Given the description of an element on the screen output the (x, y) to click on. 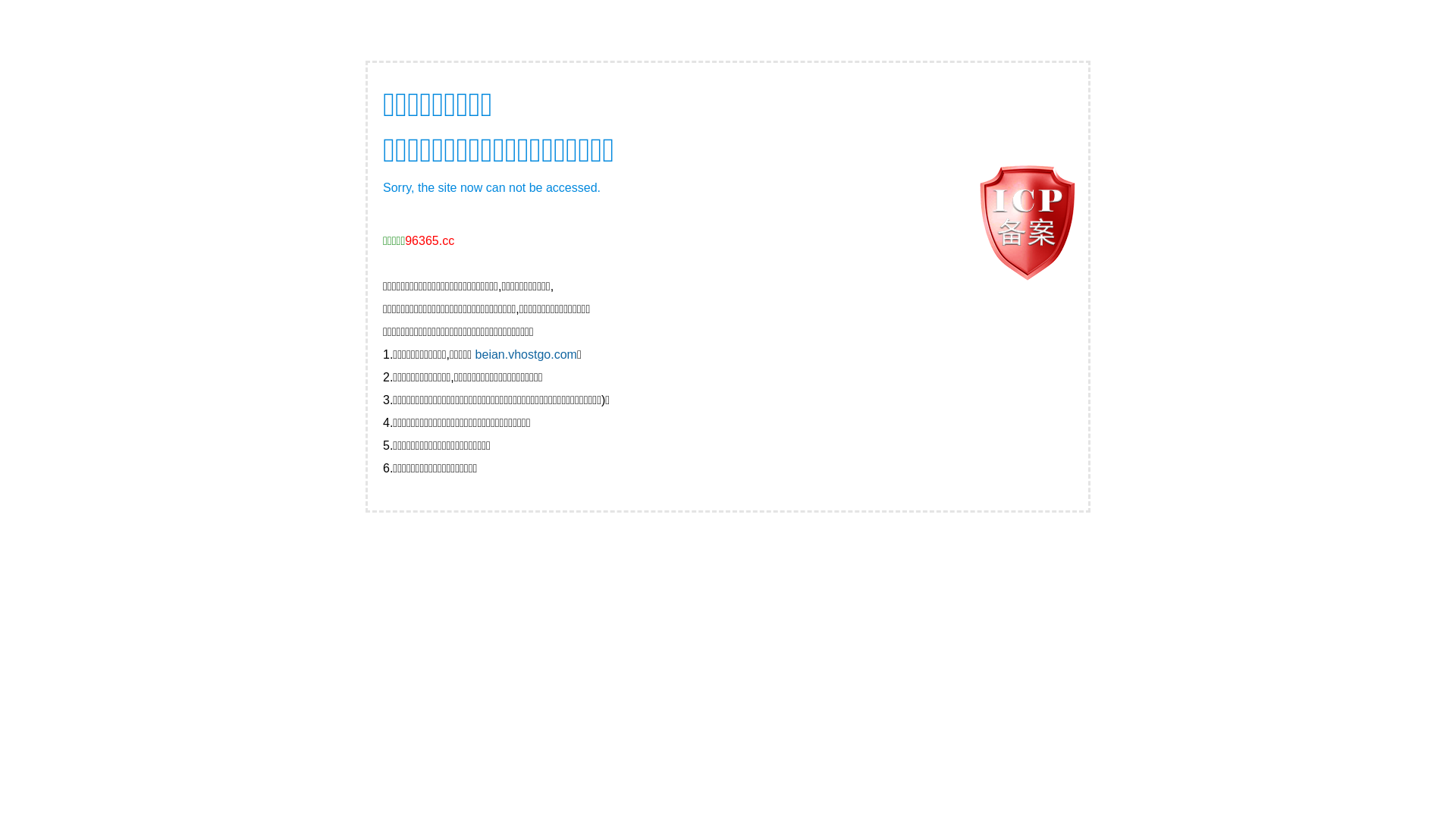
beian.vhostgo.com Element type: text (526, 354)
